Given the description of an element on the screen output the (x, y) to click on. 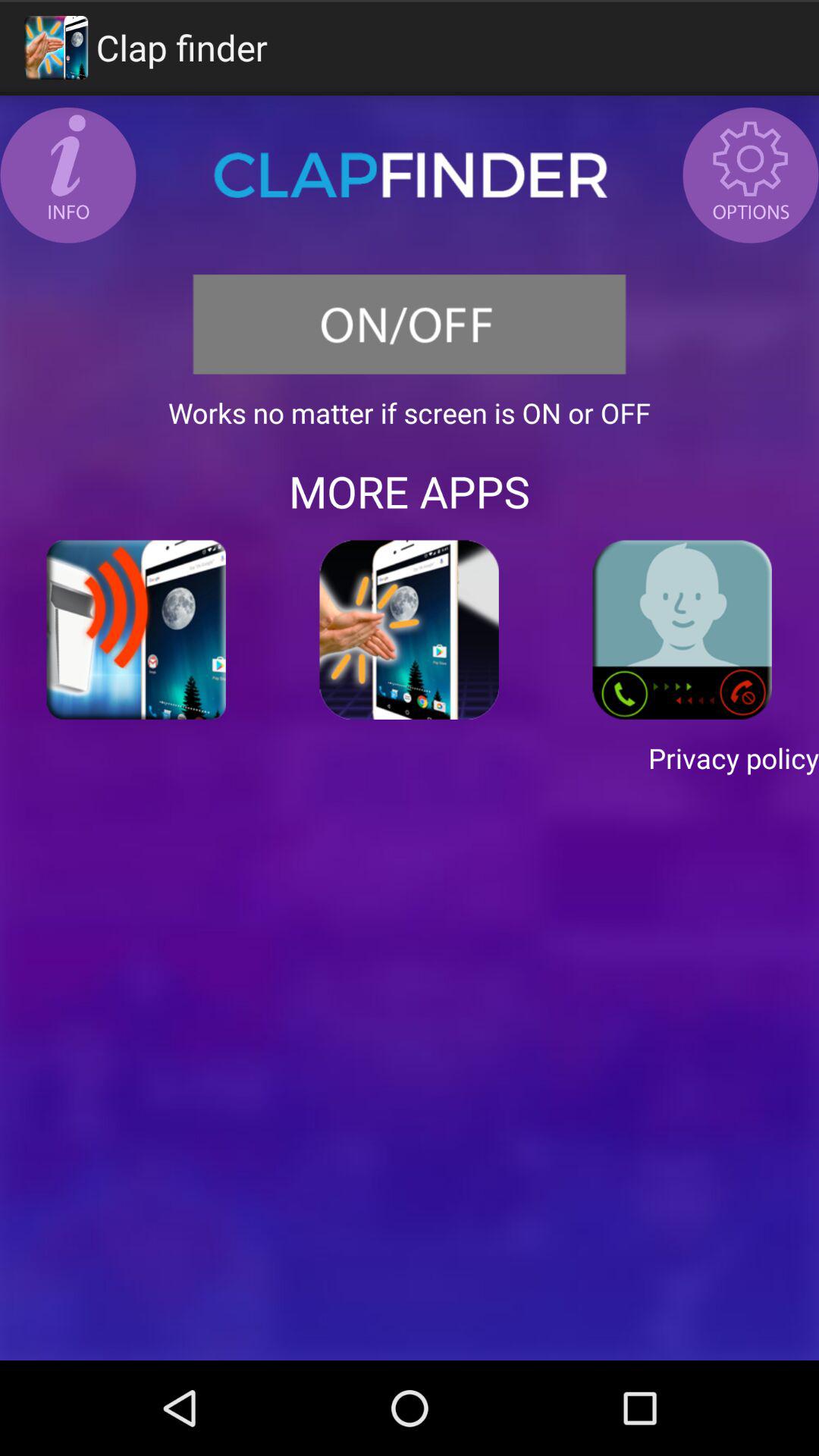
more apps (409, 629)
